Given the description of an element on the screen output the (x, y) to click on. 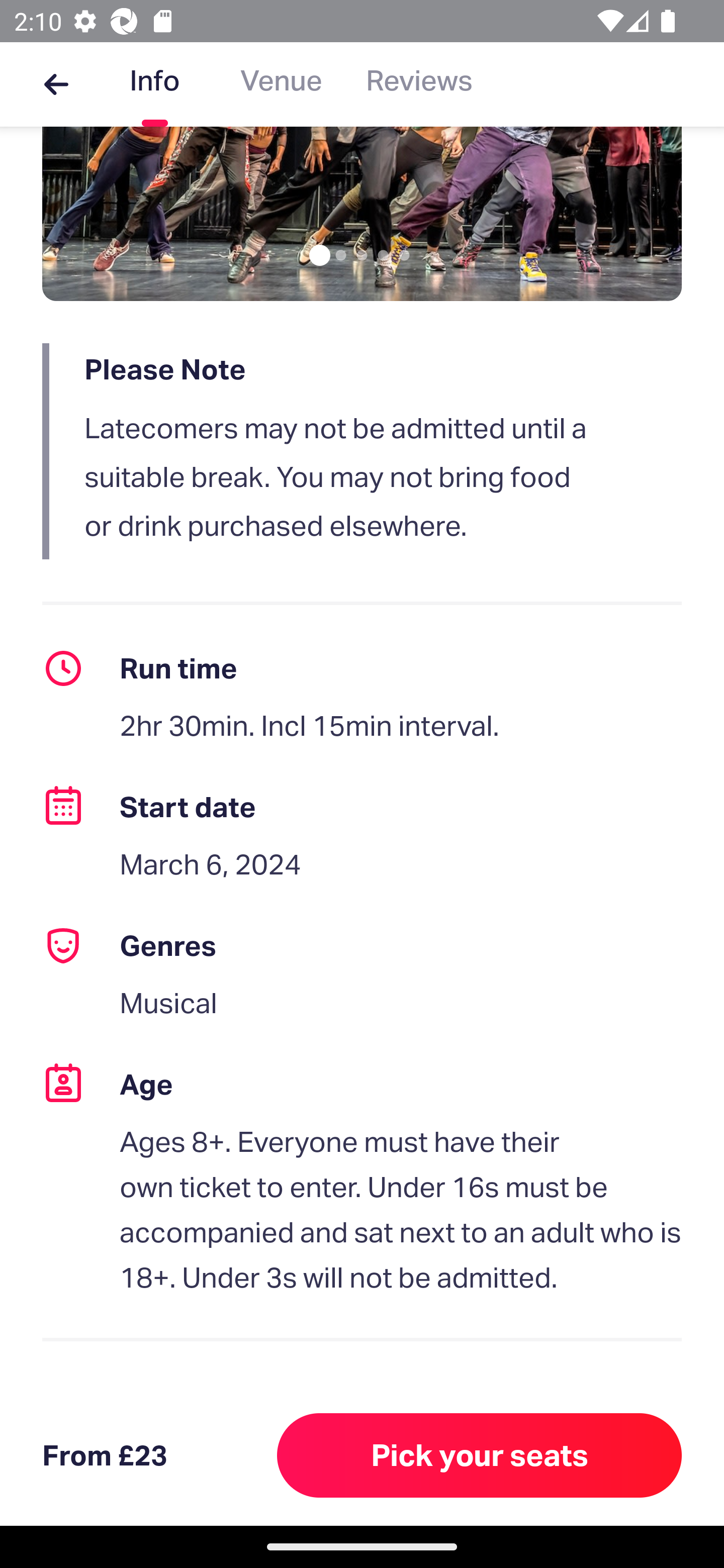
Venue (280, 84)
Reviews (419, 84)
Pick your seats (479, 1454)
